Given the description of an element on the screen output the (x, y) to click on. 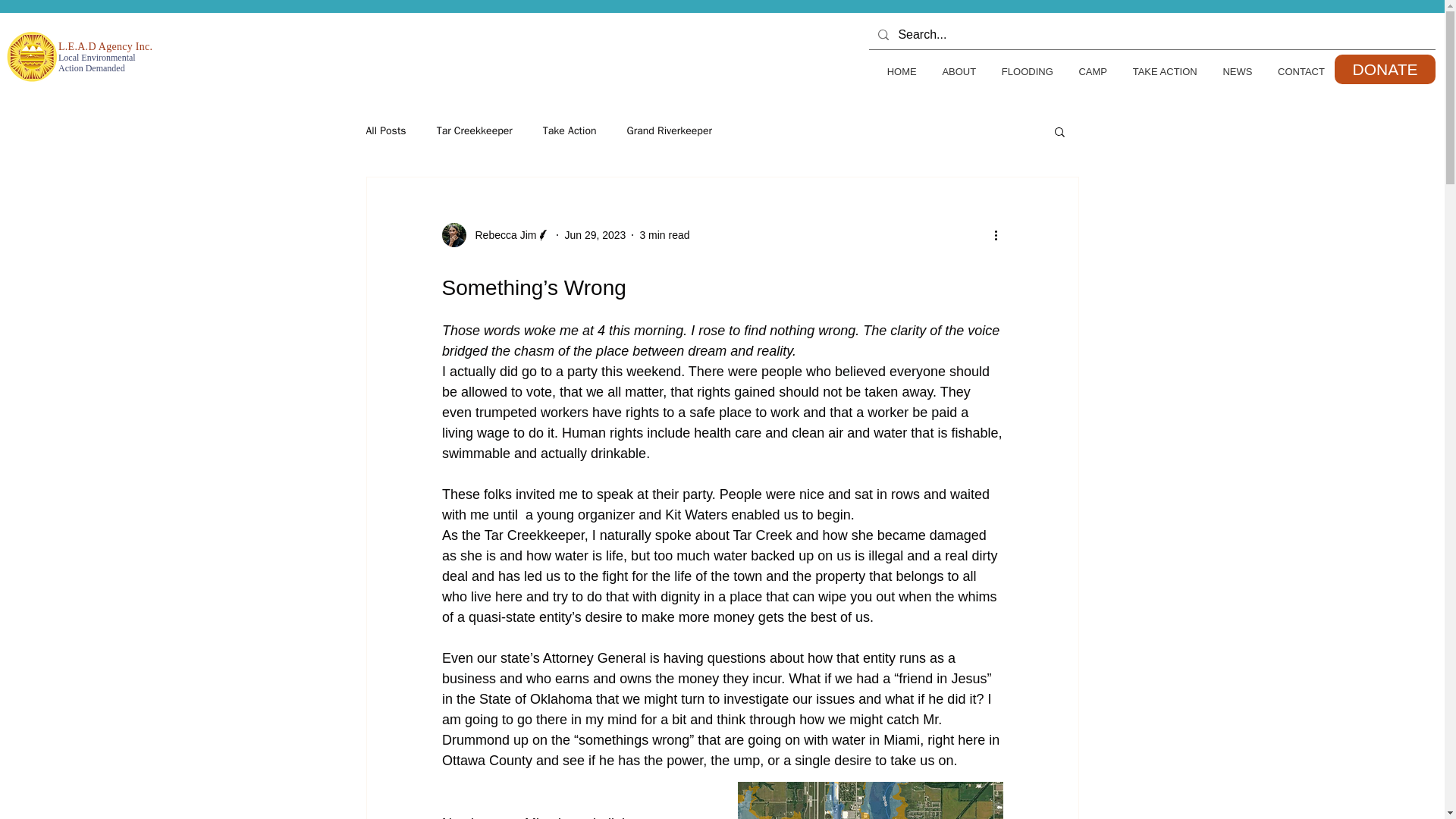
All Posts (385, 131)
Rebecca Jim (500, 235)
Take Action (569, 131)
DONATE (1385, 69)
Rebecca Jim (1099, 71)
CAMP (495, 234)
HOME (1086, 71)
NEWS (895, 71)
Grand Riverkeeper (1231, 71)
3 min read (669, 131)
Tar Creekkeeper (663, 234)
TAKE ACTION (474, 131)
Jun 29, 2023 (1158, 71)
CONTACT (595, 234)
